Given the description of an element on the screen output the (x, y) to click on. 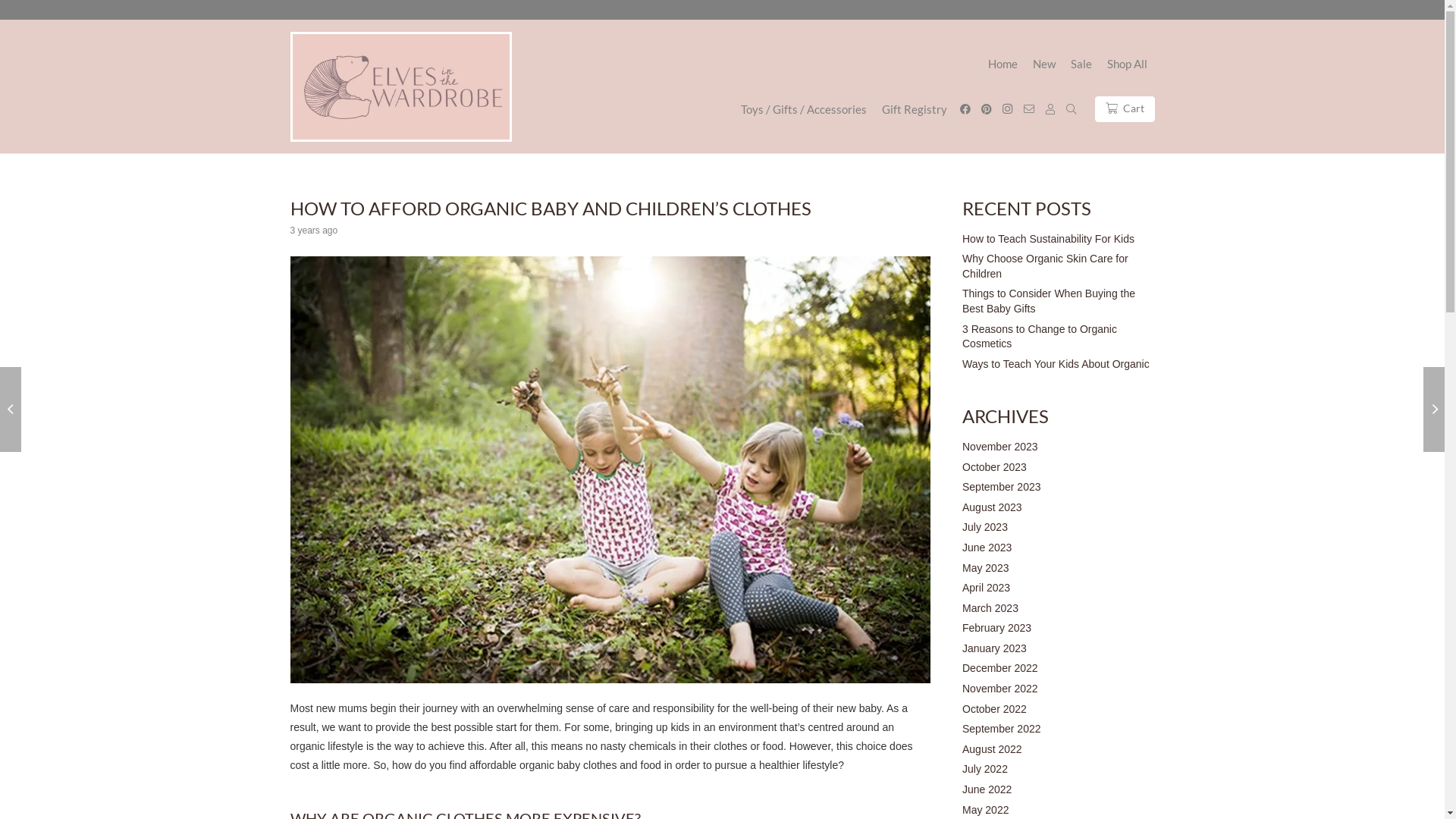
Instagram Element type: hover (1007, 108)
Search Element type: hover (1071, 108)
Cart Element type: text (1124, 109)
May 2023 Element type: text (985, 567)
July 2023 Element type: text (984, 526)
November 2023 Element type: text (1000, 446)
August 2022 Element type: text (992, 749)
October 2022 Element type: text (994, 708)
December 2022 Element type: text (1000, 668)
Why Choose Organic Skin Care for Children Element type: text (1045, 265)
Home Element type: text (1002, 63)
May 2022 Element type: text (985, 809)
Sale Element type: text (1081, 63)
Shop All Element type: text (1126, 63)
Email Element type: hover (1028, 108)
February 2023 Element type: text (996, 627)
Pinterest Element type: hover (986, 108)
New Element type: text (1044, 63)
October 2023 Element type: text (994, 467)
September 2022 Element type: text (1001, 728)
How to Teach Sustainability For Kids Element type: text (1048, 238)
3 Reasons to Change to Organic Cosmetics Element type: text (1039, 336)
January 2023 Element type: text (994, 648)
April 2023 Element type: text (986, 587)
March 2023 Element type: text (990, 608)
July 2022 Element type: text (984, 768)
November 2022 Element type: text (1000, 688)
Ways to Teach Your Kids About Organic Element type: text (1055, 363)
Facebook Element type: hover (964, 108)
August 2023 Element type: text (992, 507)
Account Element type: hover (1049, 108)
Gift Registry Element type: text (914, 109)
September 2023 Element type: text (1001, 486)
Toys / Gifts / Accessories Element type: text (803, 109)
June 2022 Element type: text (986, 789)
Things to Consider When Buying the Best Baby Gifts Element type: text (1048, 300)
June 2023 Element type: text (986, 547)
